Given the description of an element on the screen output the (x, y) to click on. 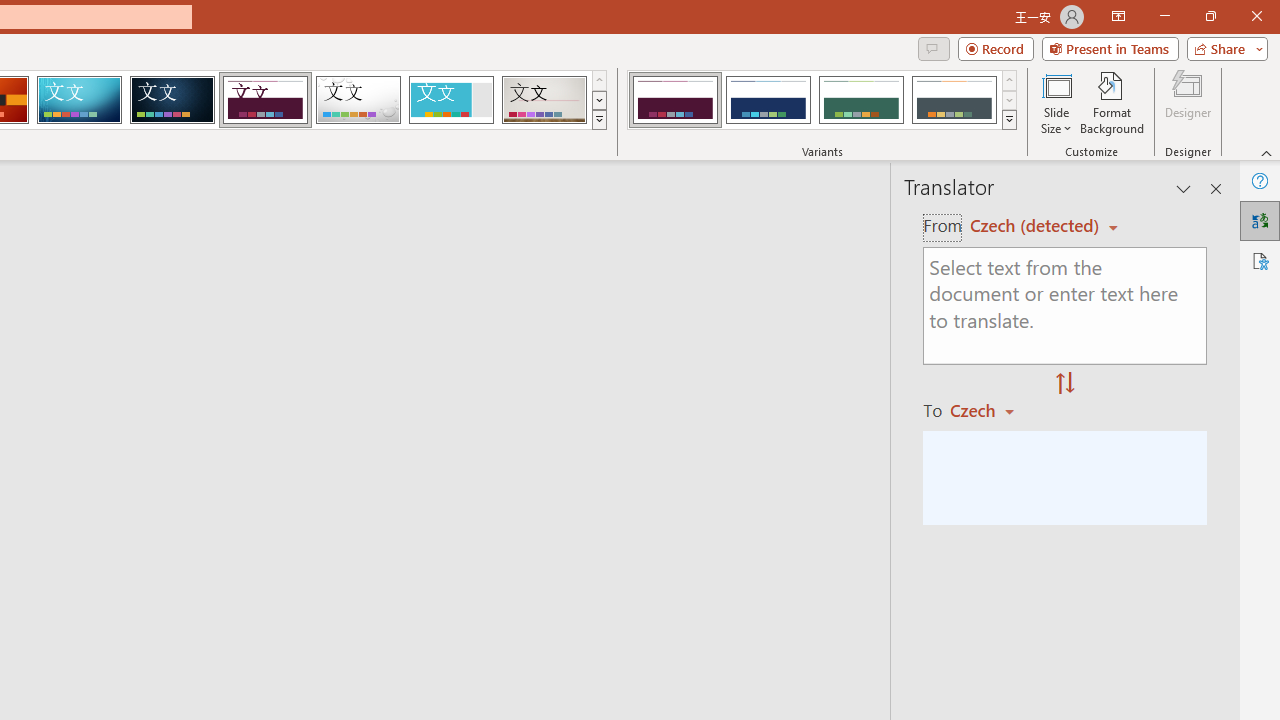
Czech (detected) (1037, 225)
Damask (171, 100)
Droplet (358, 100)
Czech (991, 409)
Dividend Variant 2 (768, 100)
Dividend Variant 4 (953, 100)
Dividend Variant 1 (674, 100)
